Given the description of an element on the screen output the (x, y) to click on. 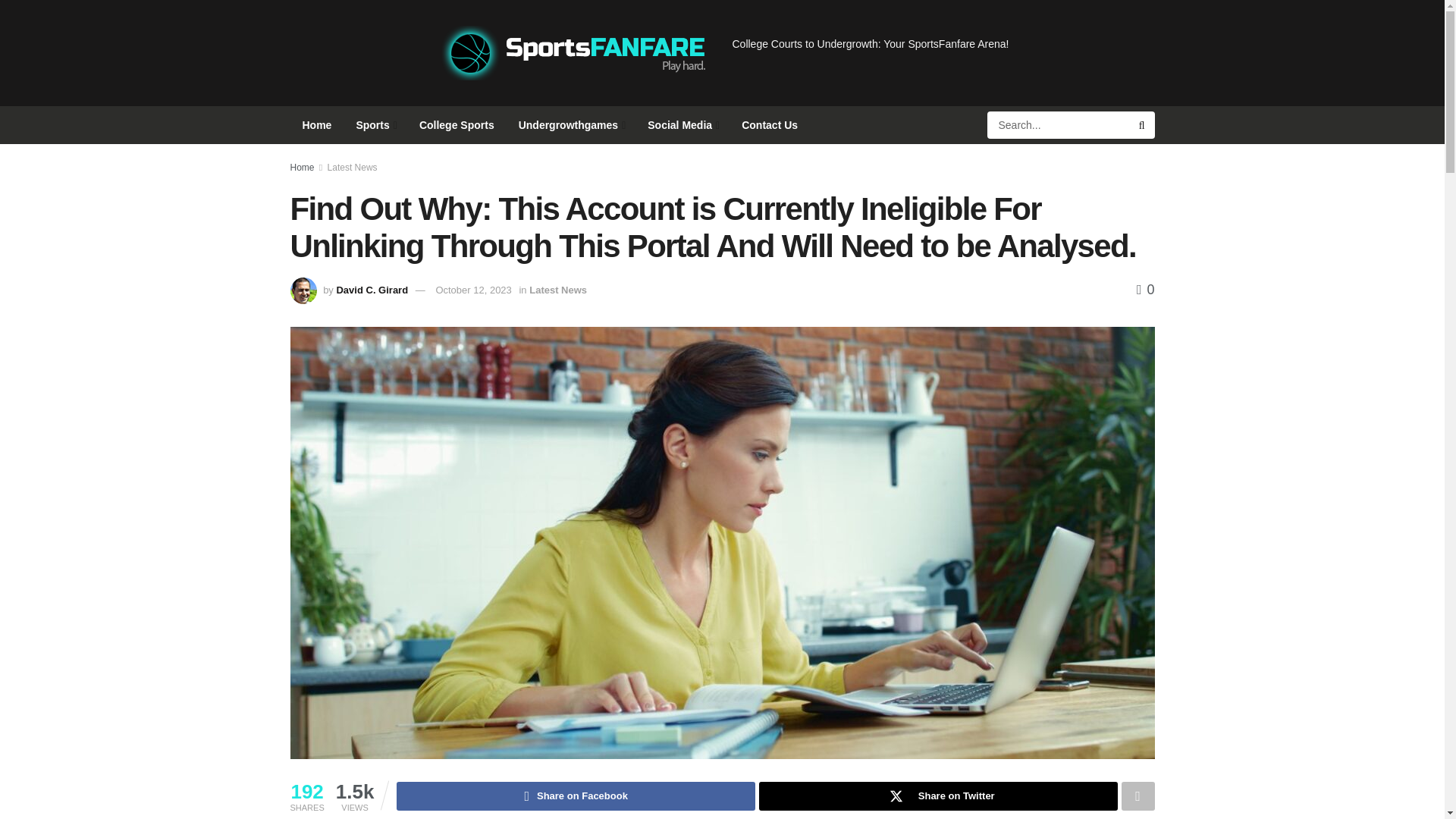
Undergrowthgames (571, 125)
Home (316, 125)
College Sports (456, 125)
Sports (374, 125)
Social Media (681, 125)
Contact Us (769, 125)
